Given the description of an element on the screen output the (x, y) to click on. 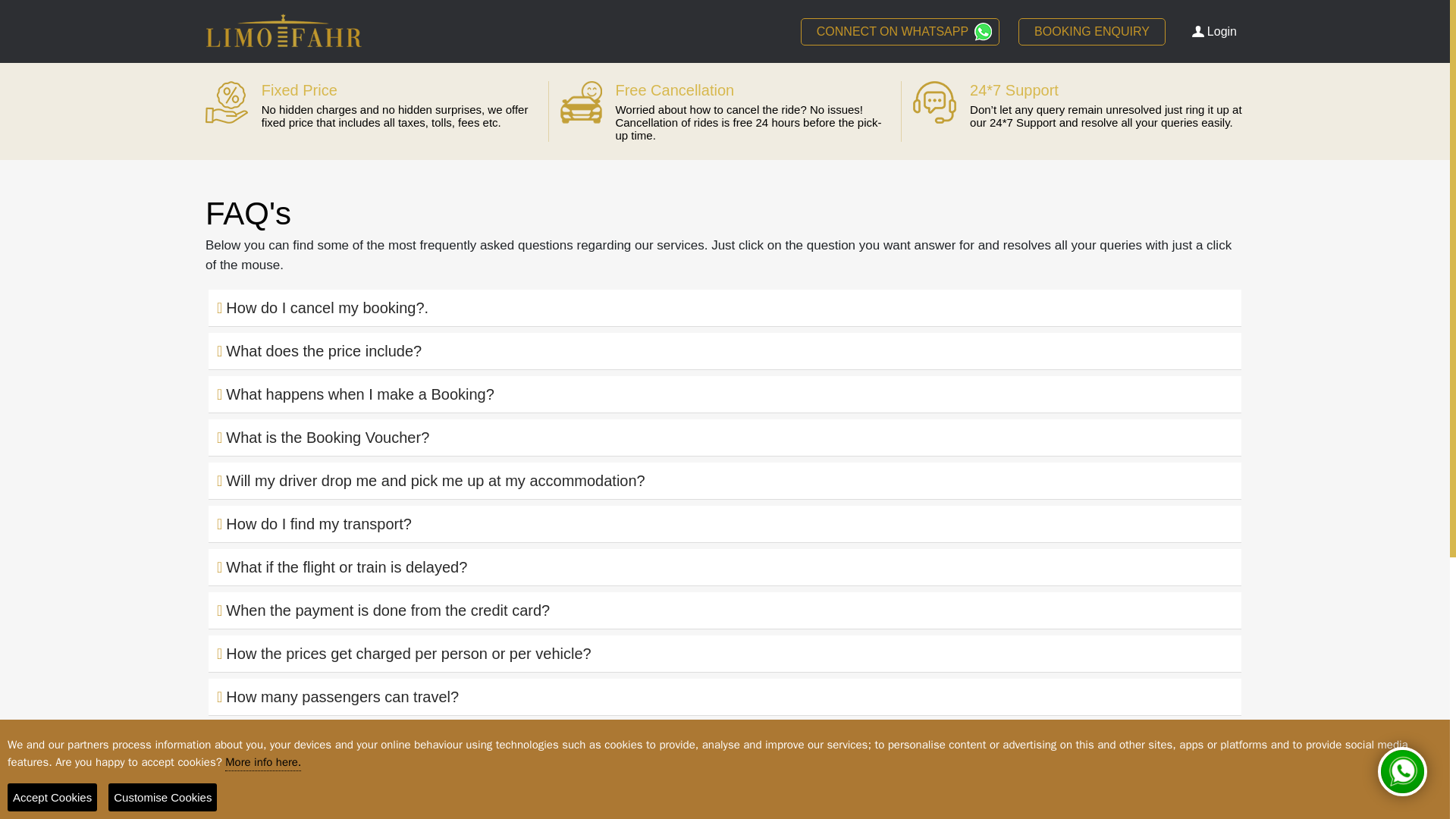
What happens when I make a Booking? (724, 393)
Will my driver drop me and pick me up at my accommodation? (724, 480)
CONNECT ON WHATSAPP (899, 31)
What if the flight or train is delayed? (724, 566)
How can I change my account details? (724, 782)
What does the price include? (724, 350)
How do I find my transport? (724, 524)
What if I forgot my Password? (724, 739)
Login (1218, 31)
How do I cancel my booking?. (724, 307)
How the prices get charged per person or per vehicle? (724, 653)
When the payment is done from the credit card? (724, 610)
BOOKING ENQUIRY (1091, 31)
How many passengers can travel? (724, 696)
